Given the description of an element on the screen output the (x, y) to click on. 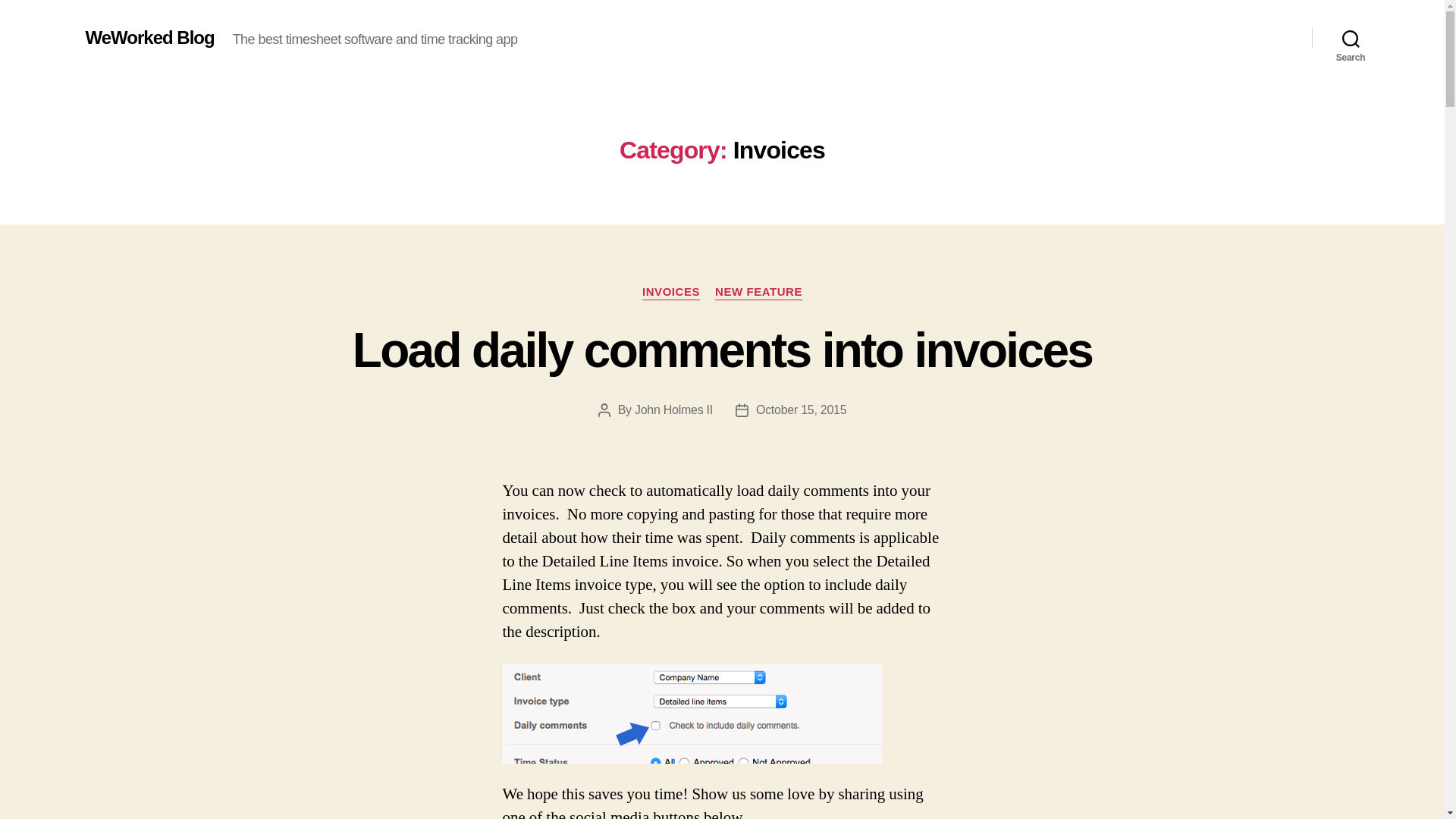
INVOICES (671, 292)
Load daily comments into invoices (722, 349)
John Holmes II (673, 409)
WeWorked Blog (149, 37)
NEW FEATURE (758, 292)
October 15, 2015 (800, 409)
Search (1350, 37)
